Given the description of an element on the screen output the (x, y) to click on. 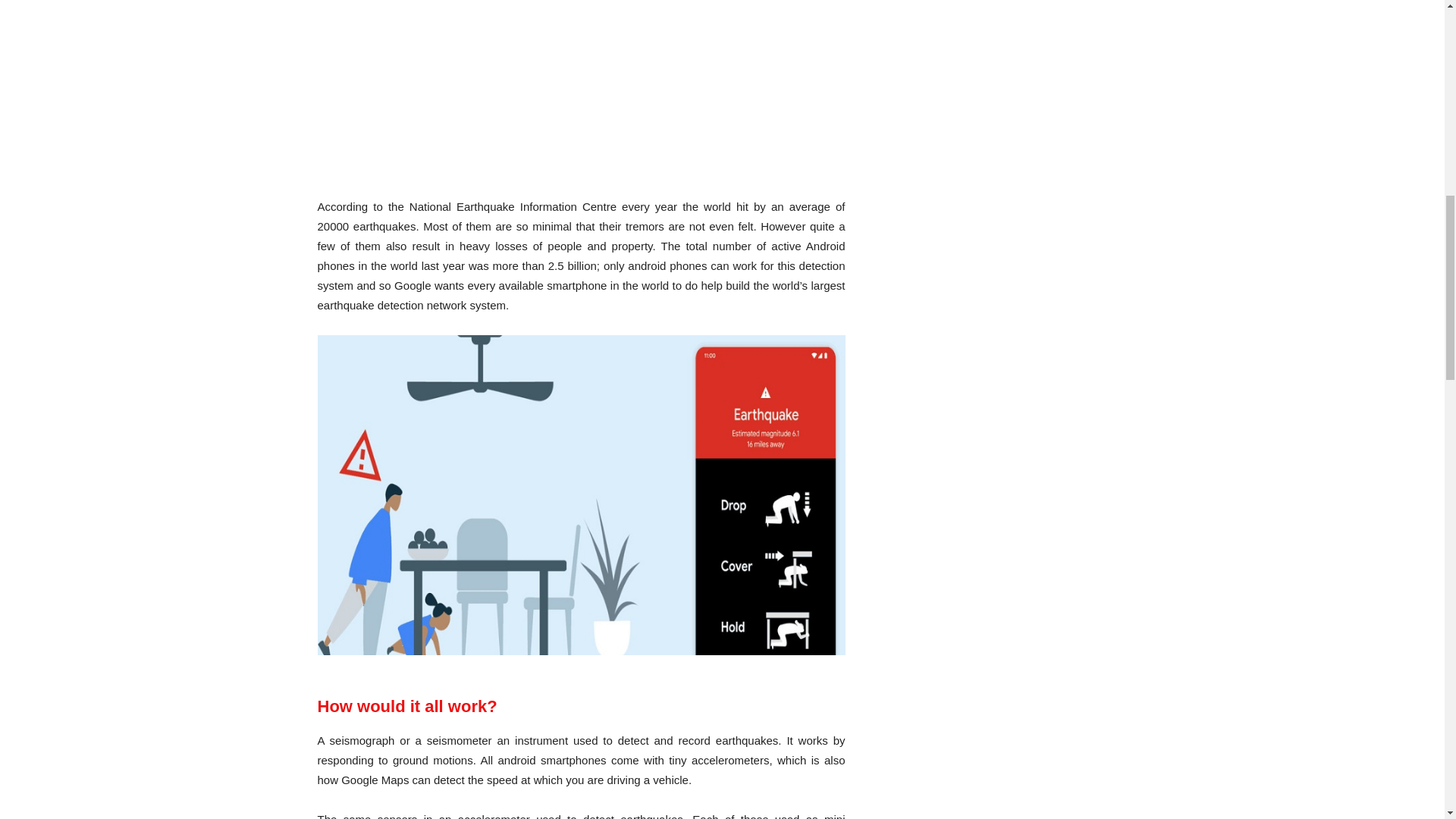
Advertisement (580, 94)
